Given the description of an element on the screen output the (x, y) to click on. 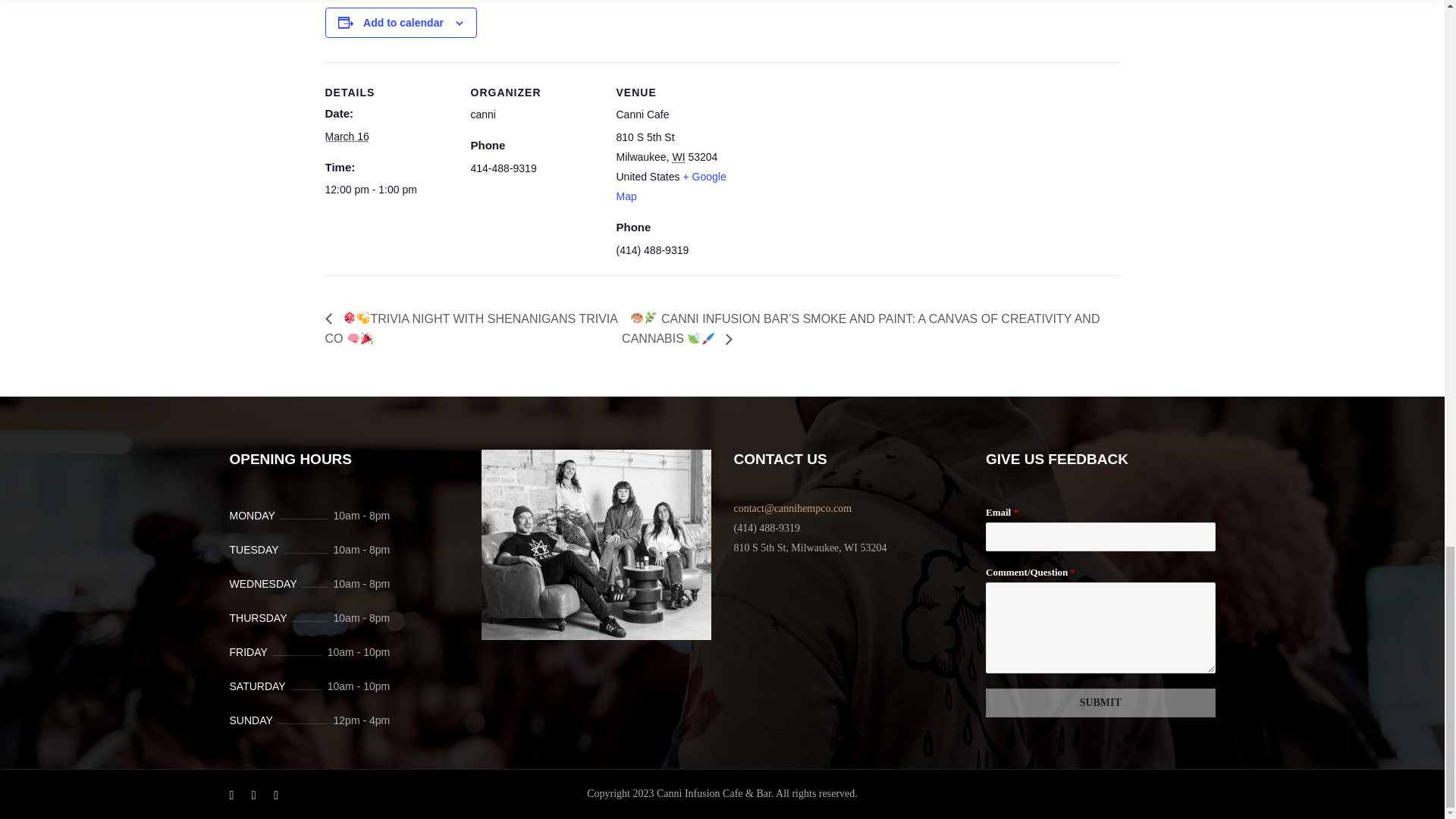
2024-03-16 (346, 136)
Google maps iframe displaying the address to Canni Cafe (841, 166)
Click to view a Google Map (670, 186)
2024-03-16 (387, 189)
Wisconsin (677, 156)
